Given the description of an element on the screen output the (x, y) to click on. 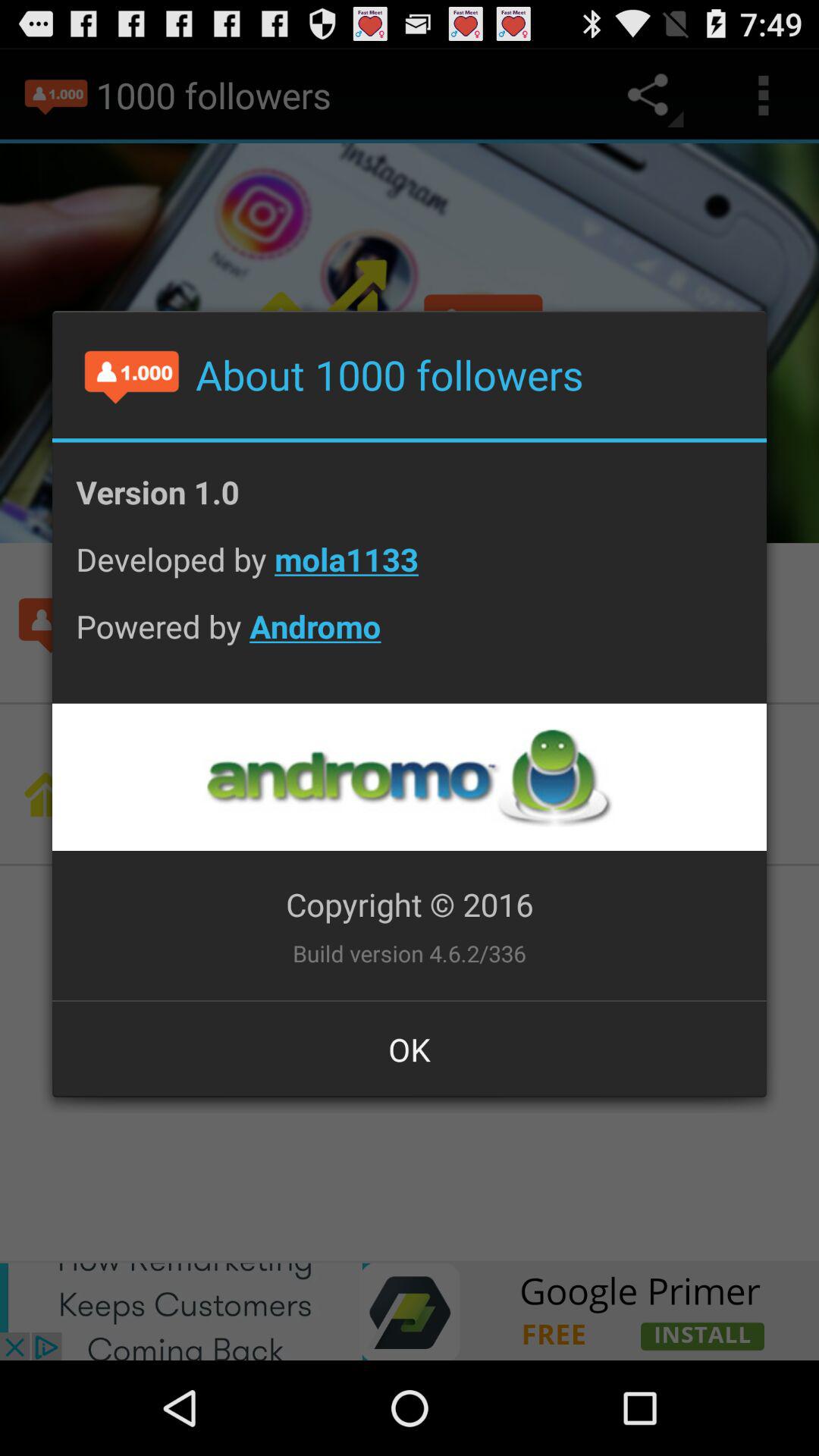
tap the powered by andromo item (409, 637)
